Given the description of an element on the screen output the (x, y) to click on. 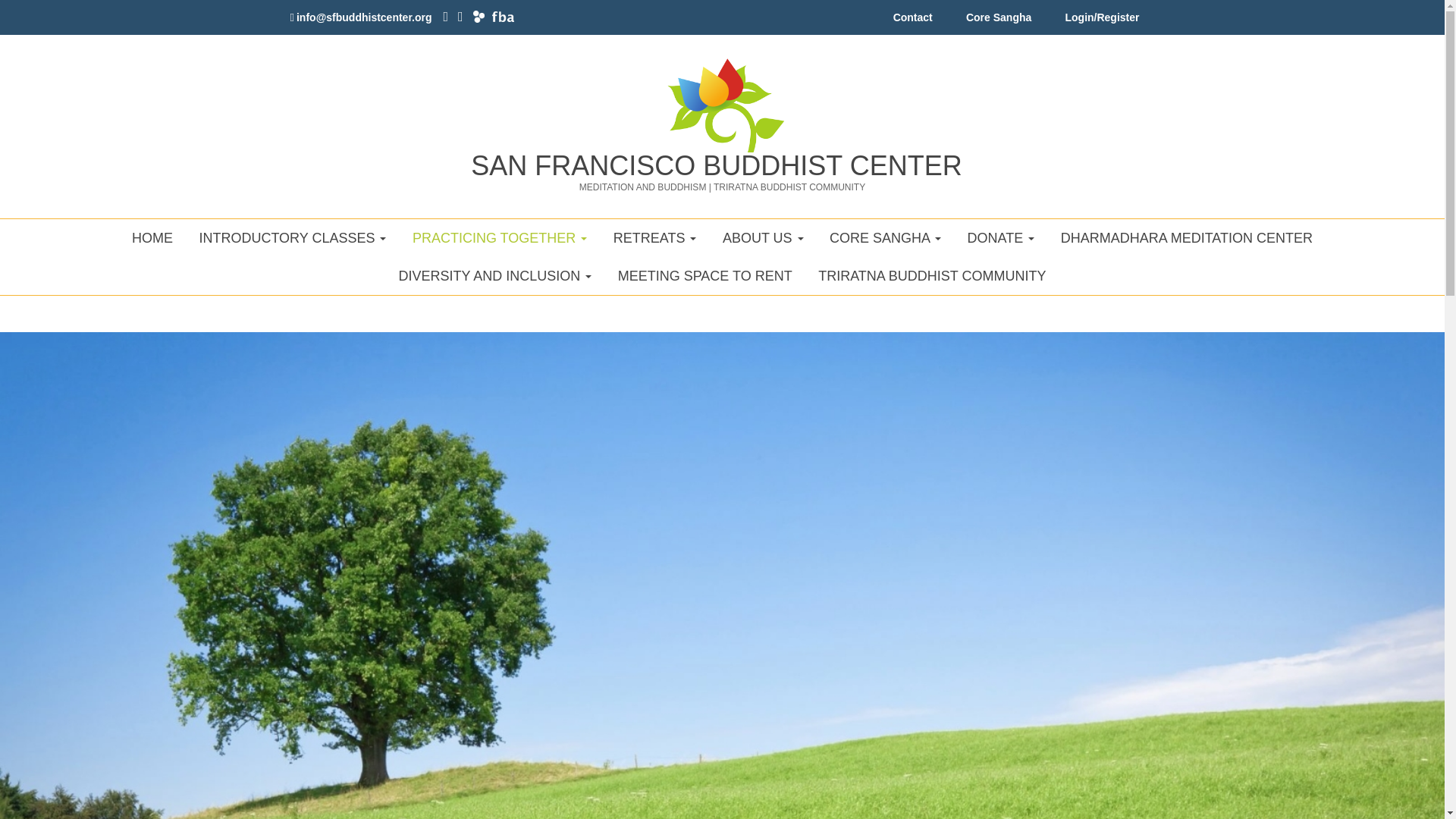
Home (721, 97)
SFBC Community and Practice (499, 238)
RETREATS (654, 238)
Meeting space (705, 275)
HOME (152, 238)
ABOUT US (763, 238)
SAN FRANCISCO BUDDHIST CENTER (715, 164)
CORE SANGHA (885, 238)
San Francisco Buddhist Center at thebuddhistcentre.com (478, 17)
Core Sangha (998, 22)
Contact (912, 22)
PRACTICING TOGETHER (499, 238)
Home (715, 164)
